Given the description of an element on the screen output the (x, y) to click on. 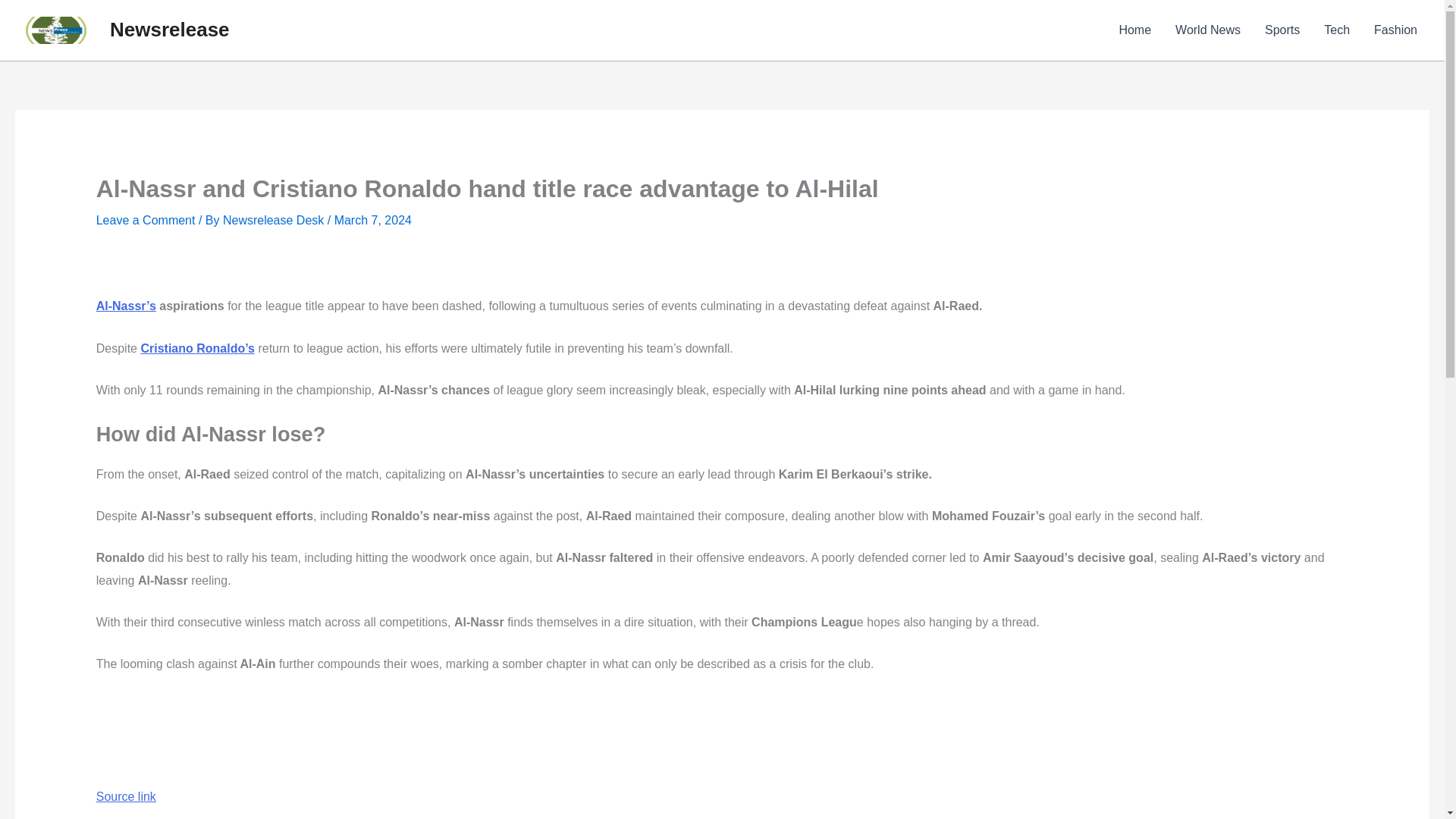
Home (1134, 30)
Newsrelease Desk (274, 219)
Leave a Comment (145, 219)
Newsrelease (170, 29)
Fashion (1395, 30)
World News (1207, 30)
Source link (125, 796)
View all posts by Newsrelease Desk (274, 219)
Sports (1281, 30)
